Given the description of an element on the screen output the (x, y) to click on. 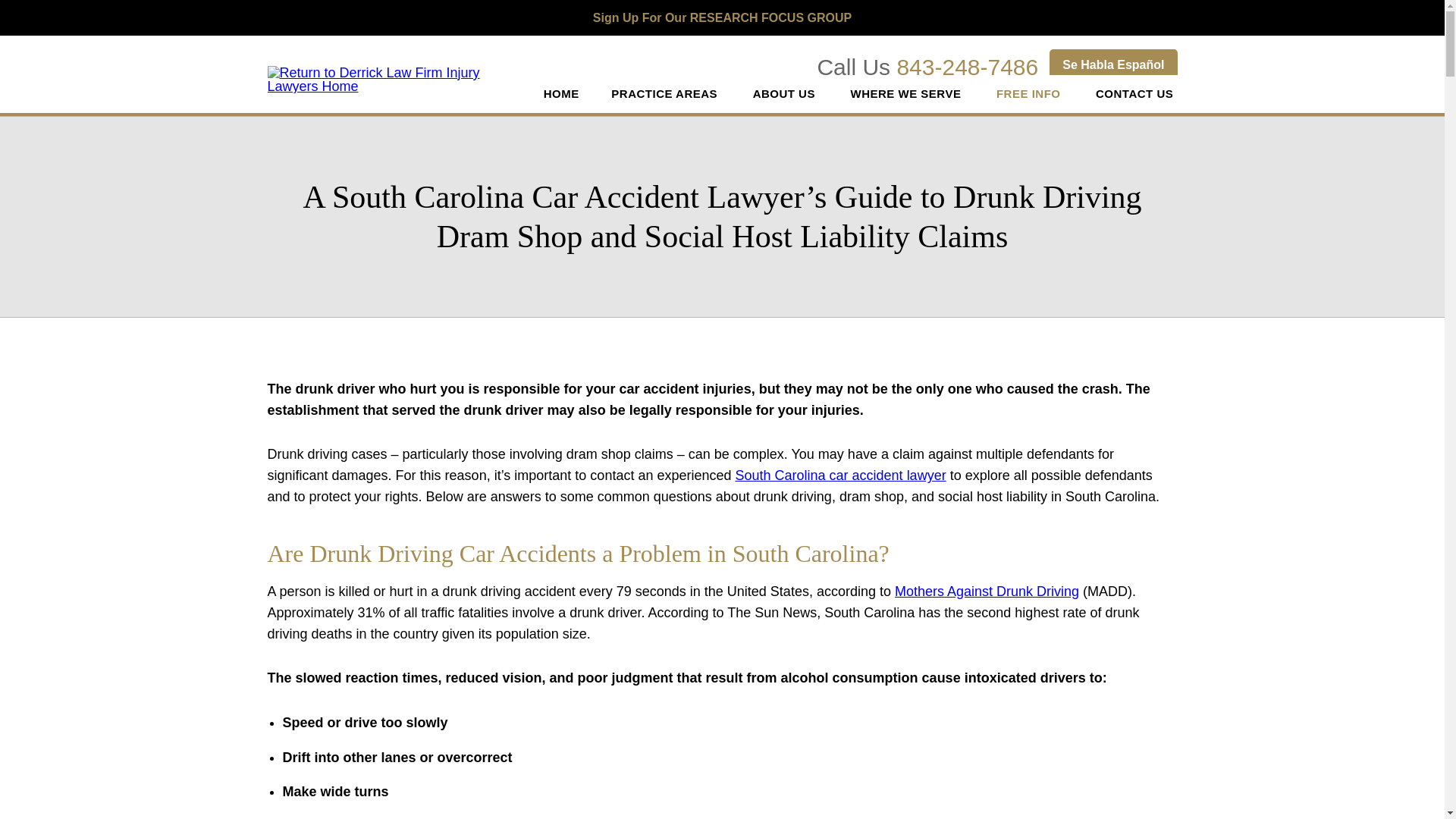
Sign Up For Our RESEARCH FOCUS GROUP (721, 17)
HOME (561, 94)
843-248-7486 (967, 66)
ABOUT US (785, 94)
PRACTICE AREAS (665, 94)
WHERE WE SERVE (906, 94)
